Given the description of an element on the screen output the (x, y) to click on. 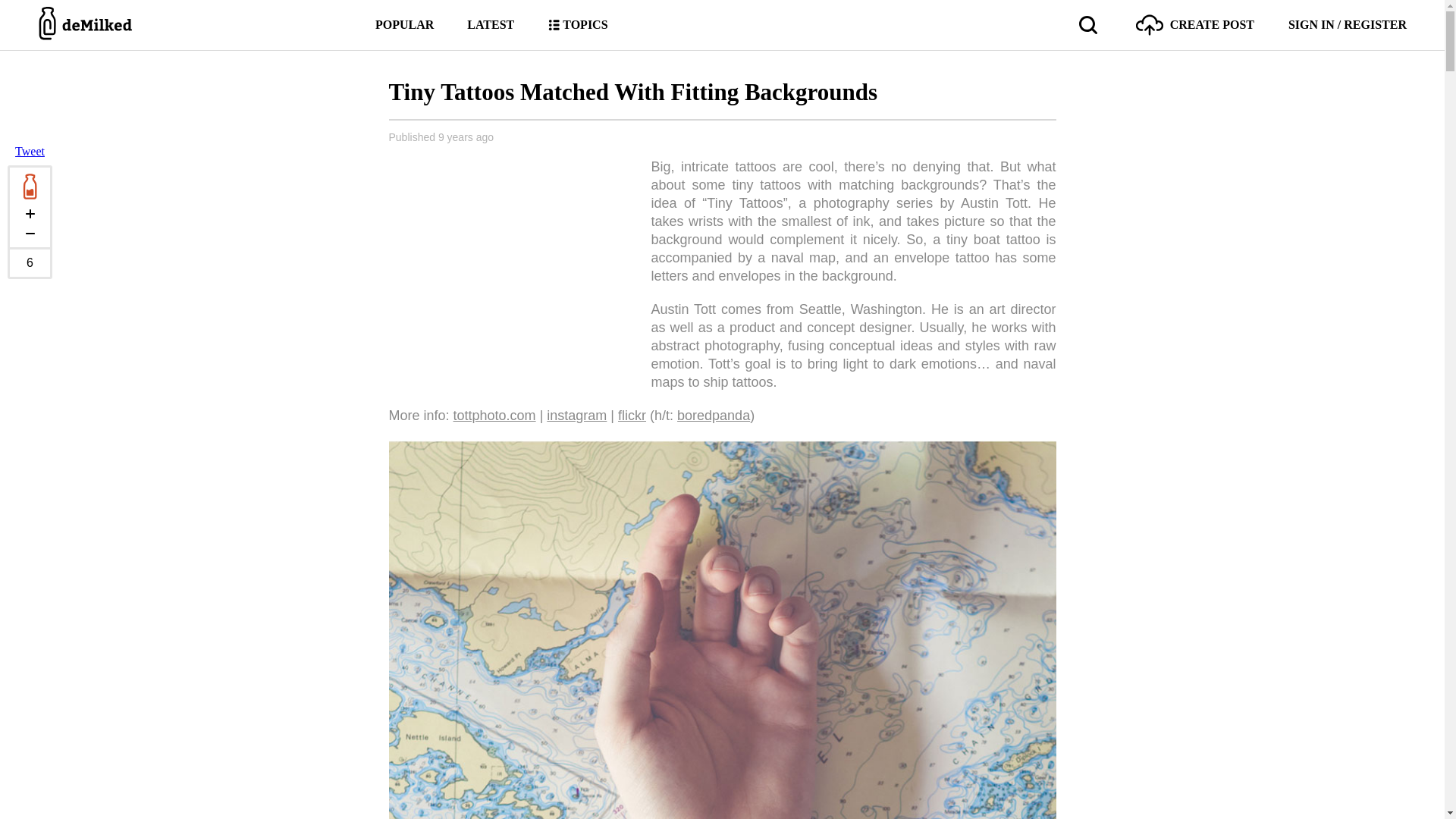
POPULAR (404, 24)
CREATE POST (1194, 24)
LATEST (490, 24)
TOPICS (577, 24)
